Given the description of an element on the screen output the (x, y) to click on. 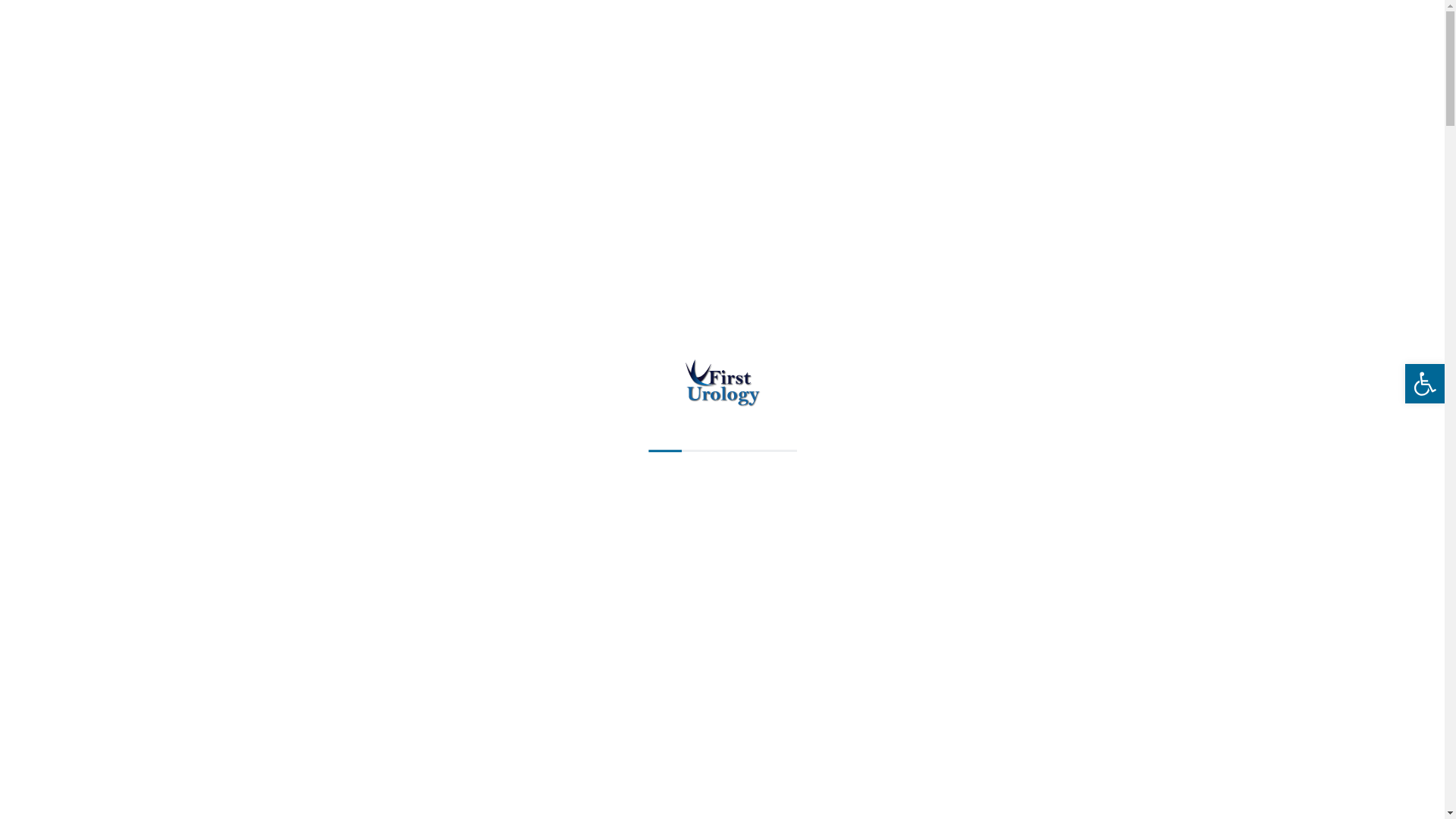
blogs Element type: text (386, 617)
Open toolbar Element type: text (1424, 383)
Prostate Cancer Element type: text (508, 617)
read more Element type: text (1021, 564)
About Us Element type: text (530, 40)
Skip to content Element type: text (0, 0)
Apr 21, 2017 Element type: text (316, 501)
Bill Pay Element type: text (967, 40)
PATIENT PORTAL Element type: text (1094, 41)
Services Element type: text (896, 40)
Conditions Element type: text (810, 40)
Men's Health Element type: text (435, 617)
0 Element type: text (1146, 617)
Providers Element type: text (720, 40)
Patient Info Element type: text (627, 40)
First Urology Element type: text (323, 617)
